Given the description of an element on the screen output the (x, y) to click on. 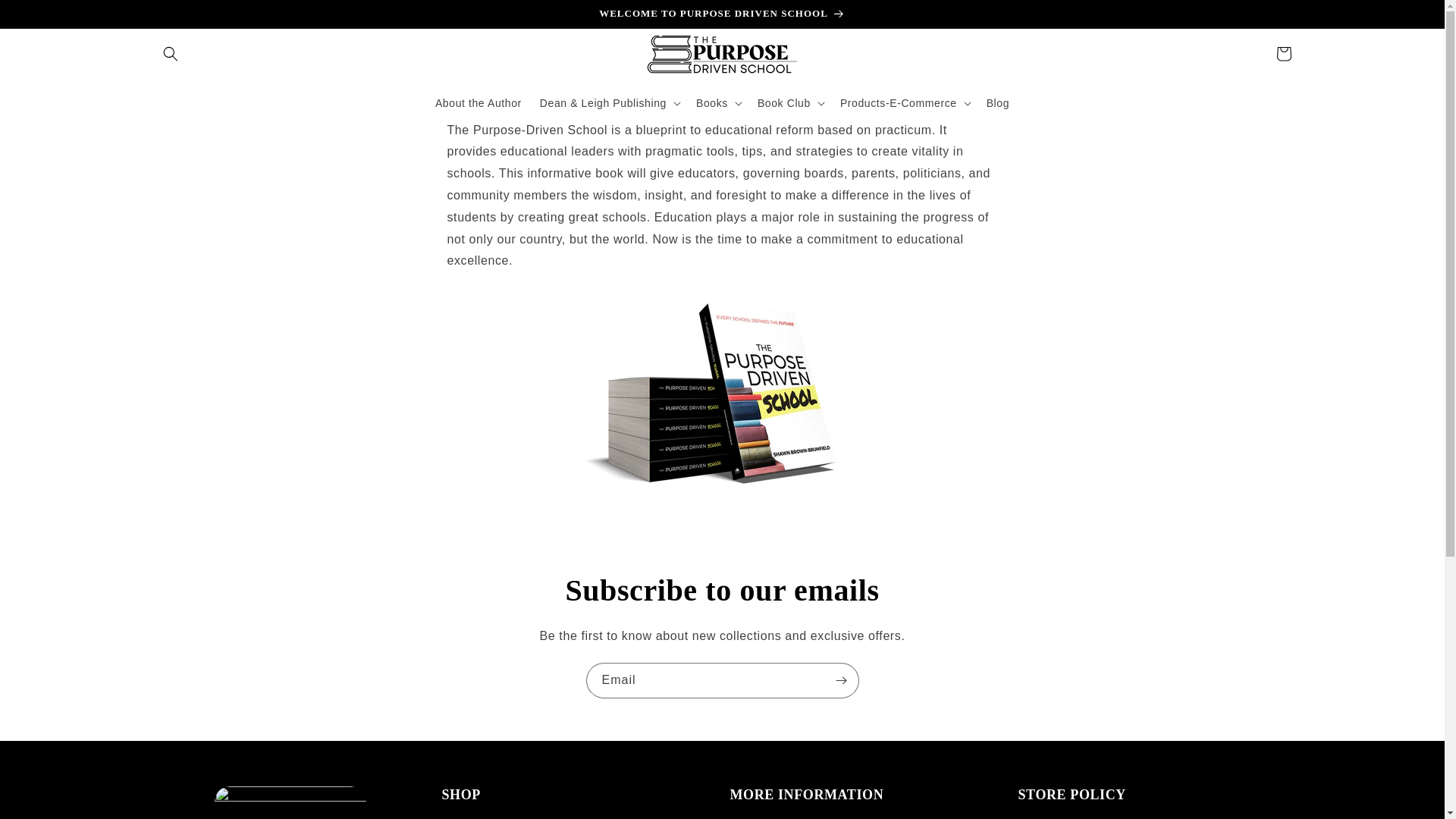
Skip to content (45, 17)
